Given the description of an element on the screen output the (x, y) to click on. 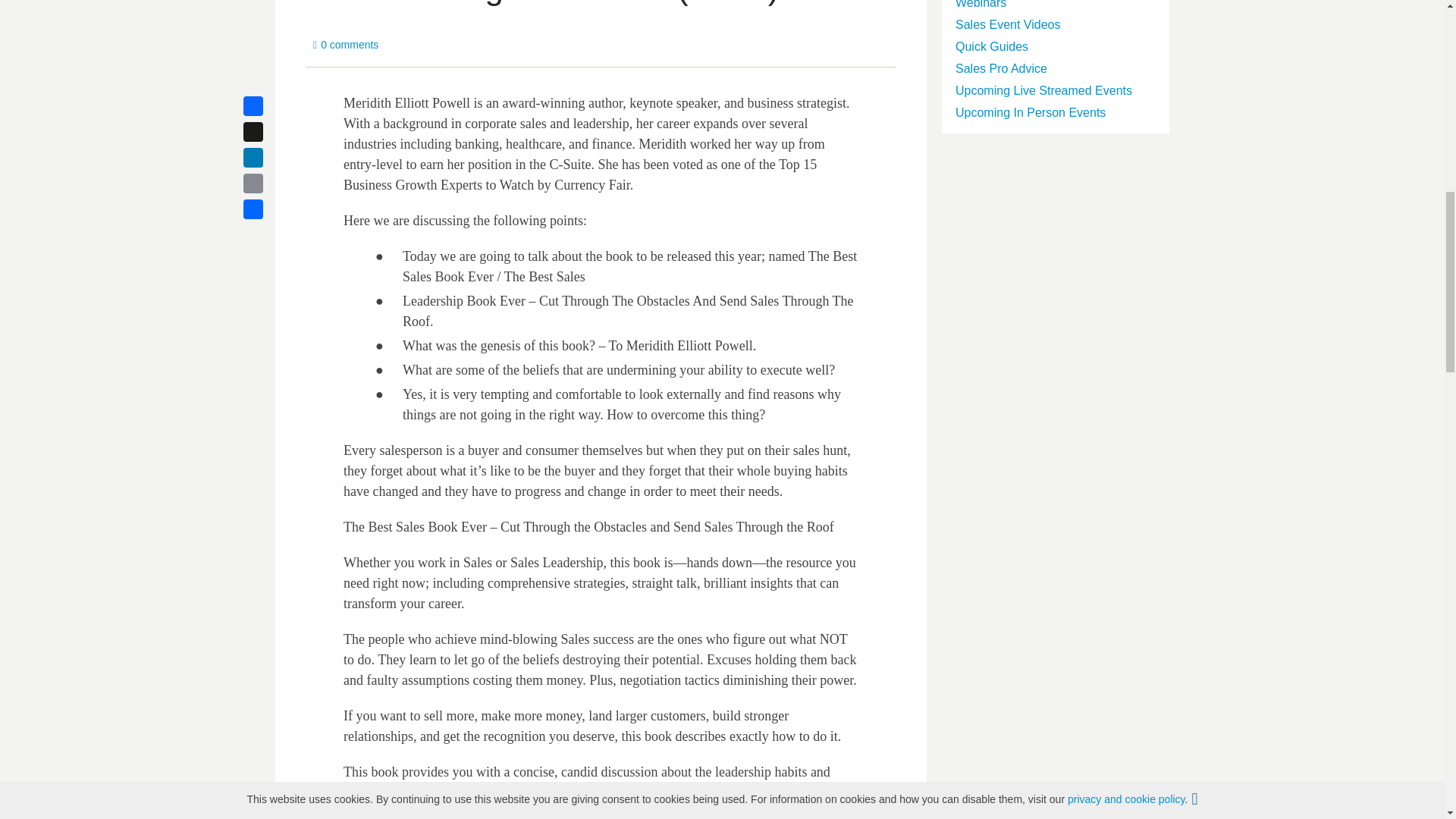
LinkedIn (271, 157)
Share (271, 208)
Facebook (271, 105)
X (271, 131)
Facebook (271, 105)
Email (271, 183)
Email (271, 183)
LinkedIn (271, 157)
X (271, 131)
0 comments (345, 44)
